Given the description of an element on the screen output the (x, y) to click on. 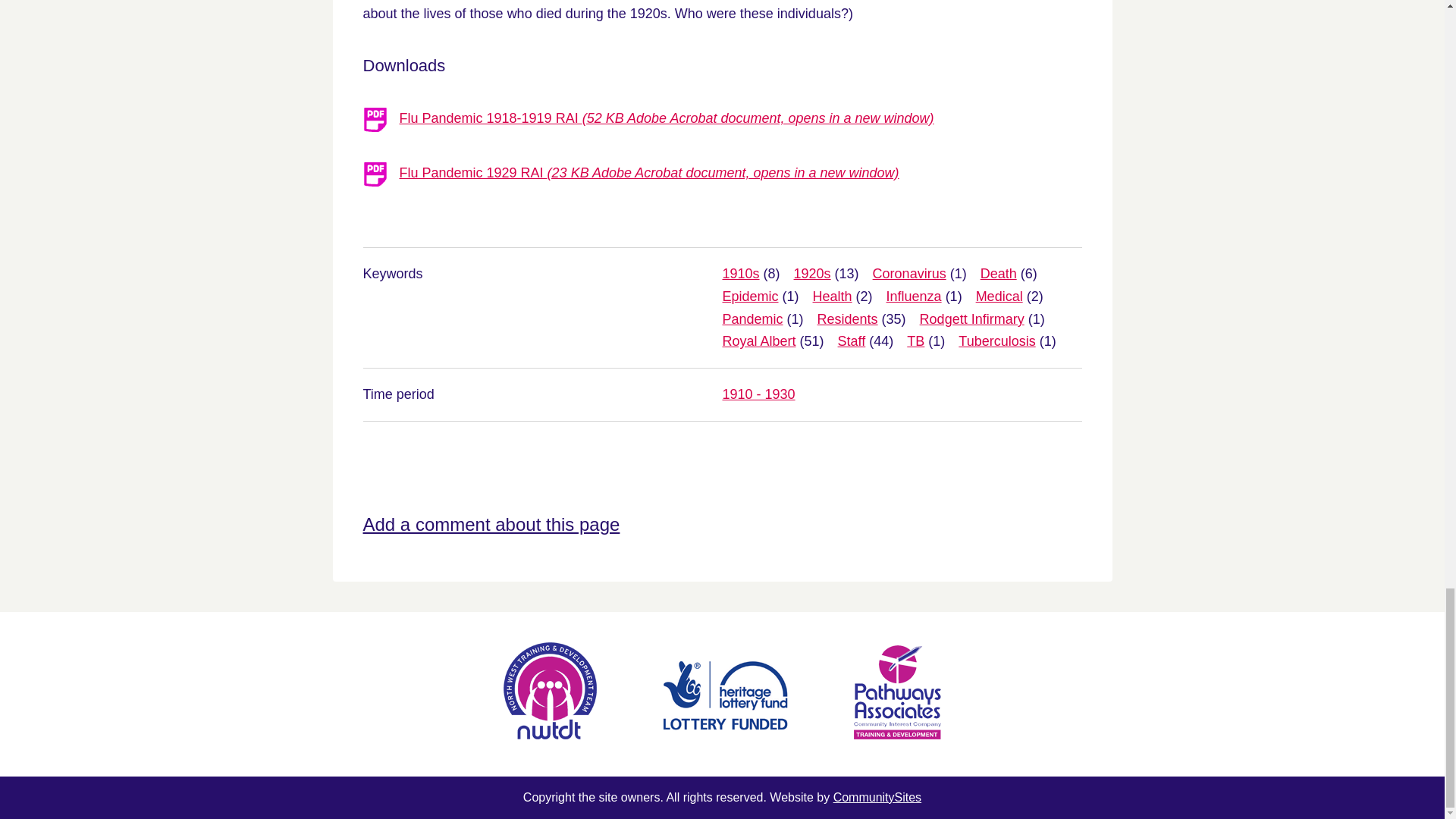
Pathways Associates (896, 734)
Health (831, 296)
Death (997, 273)
Influenza (914, 296)
Epidemic (749, 296)
Heritage Lottery Fund (751, 734)
1920s (812, 273)
1910s (740, 273)
North West Training and Development Team (576, 734)
Coronavirus (909, 273)
Medical (999, 296)
